Given the description of an element on the screen output the (x, y) to click on. 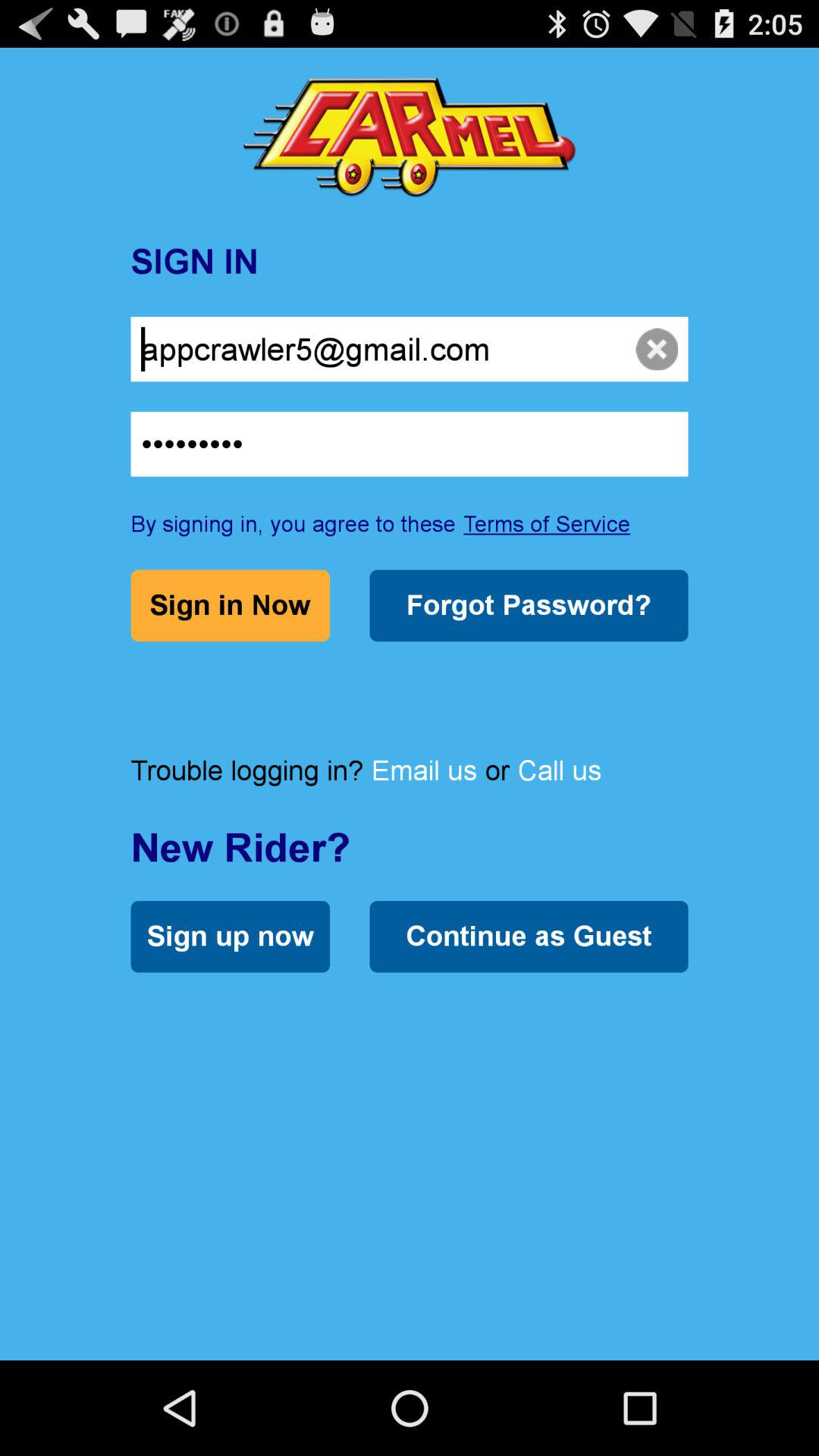
click on email us (424, 770)
click on carmel logo (409, 137)
click on terms of service (546, 523)
